Given the description of an element on the screen output the (x, y) to click on. 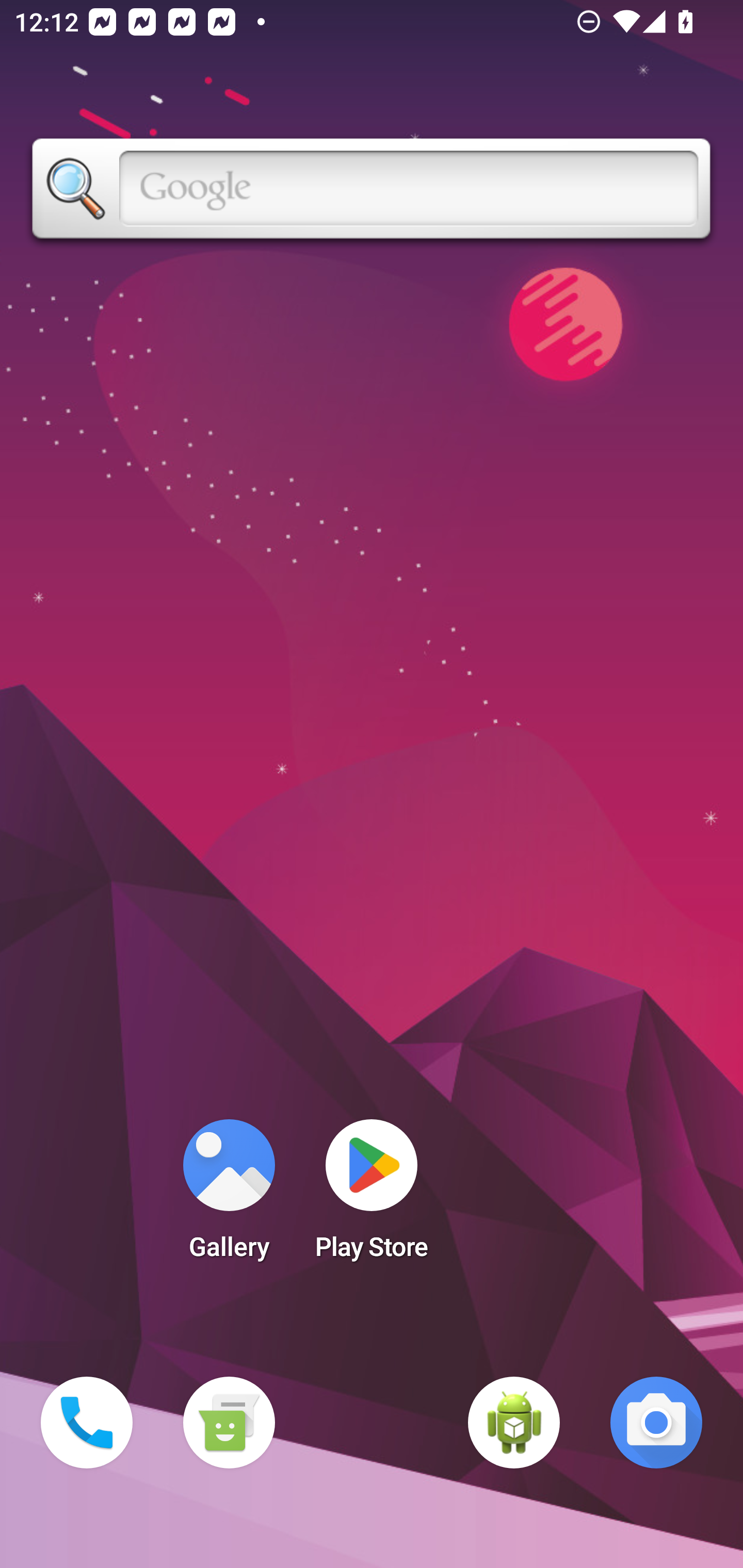
Gallery (228, 1195)
Play Store (371, 1195)
Phone (86, 1422)
Messaging (228, 1422)
WebView Browser Tester (513, 1422)
Camera (656, 1422)
